Given the description of an element on the screen output the (x, y) to click on. 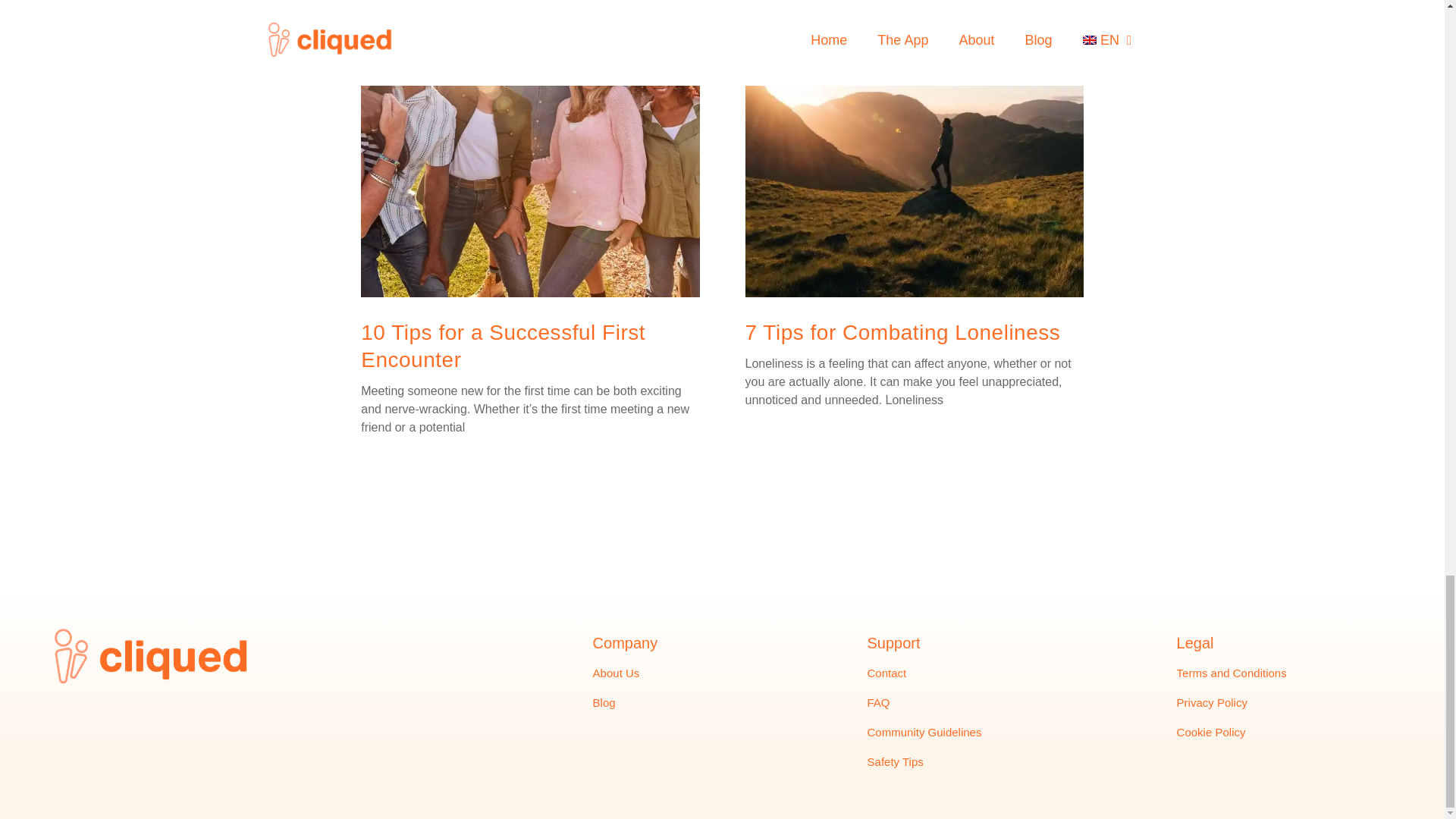
Community Guidelines (924, 732)
7 Tips for Combating Loneliness (901, 332)
About Us (616, 673)
10 Tips for a Successful First Encounter (503, 346)
Terms and Conditions (1231, 673)
Cookie Policy (1211, 732)
Privacy Policy (1211, 703)
Blog (603, 703)
FAQ (878, 703)
Safety Tips (895, 762)
Contact (887, 673)
